Given the description of an element on the screen output the (x, y) to click on. 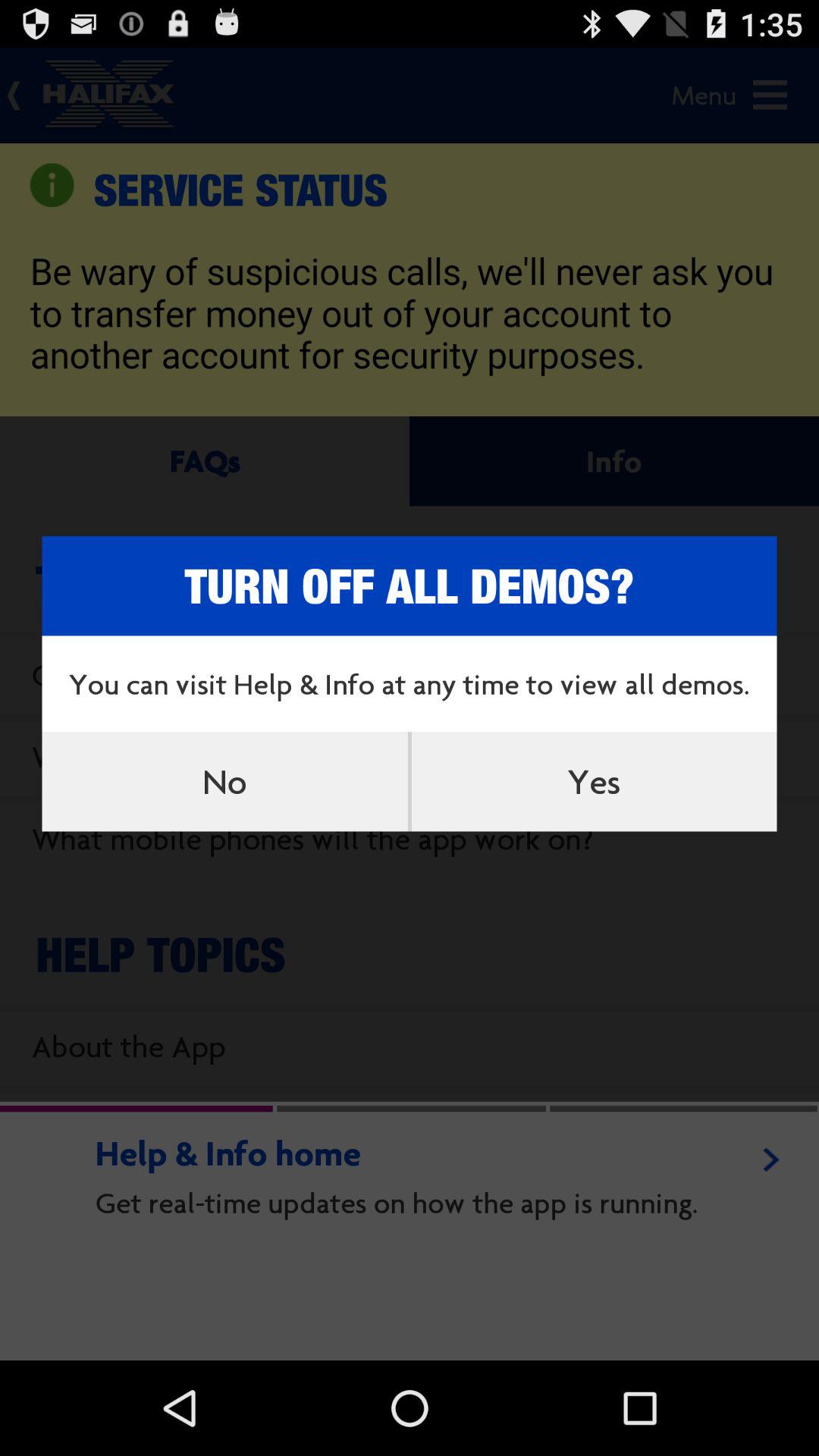
open the no on the left (224, 781)
